Given the description of an element on the screen output the (x, y) to click on. 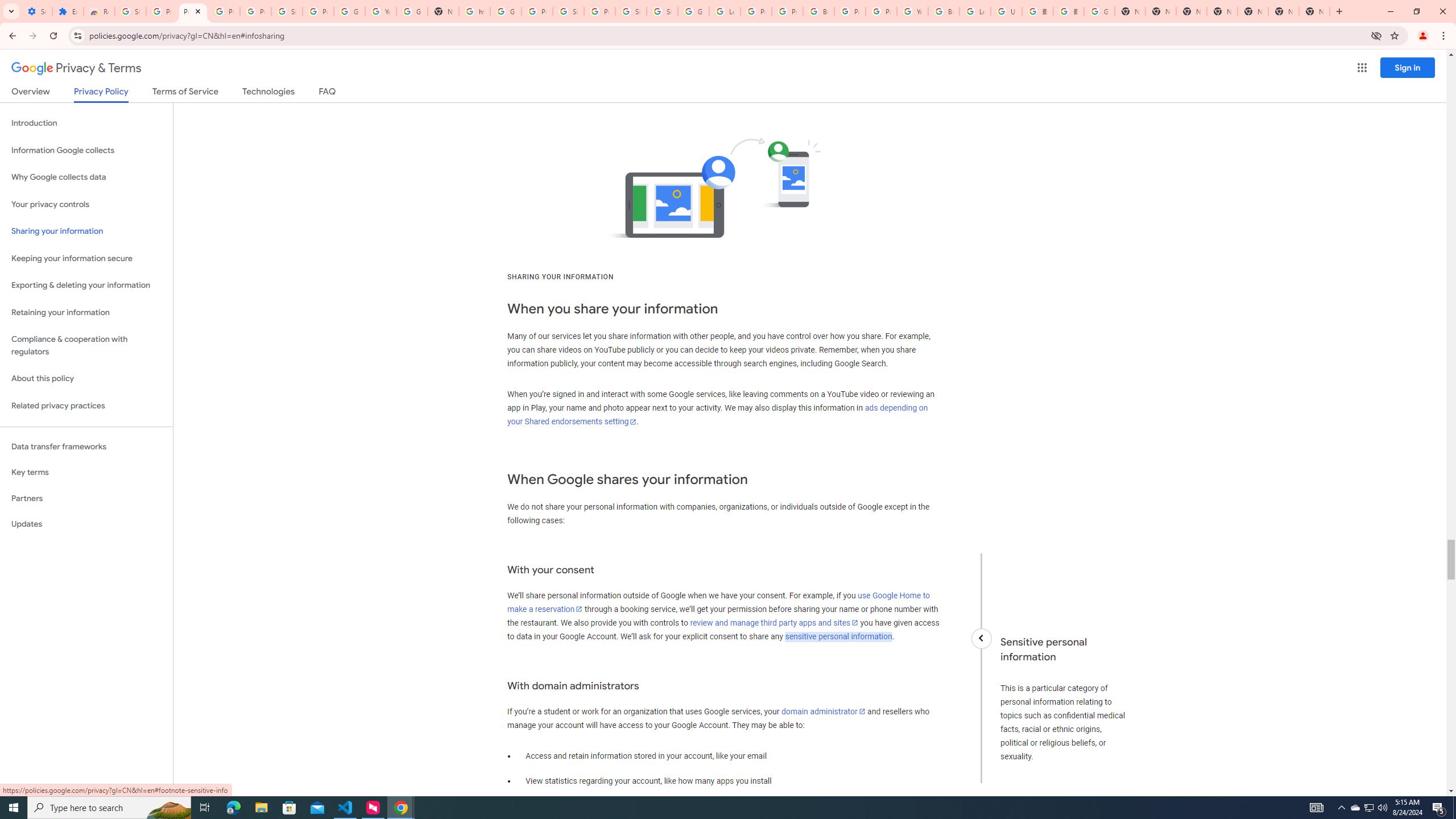
FAQ (327, 93)
Why Google collects data (86, 176)
https://scholar.google.com/ (474, 11)
Sign in - Google Accounts (631, 11)
Reviews: Helix Fruit Jump Arcade Game (98, 11)
New Tab (1222, 11)
Updates (86, 524)
Compliance & cooperation with regulators (86, 345)
Third-party cookies blocked (1376, 35)
